Given the description of an element on the screen output the (x, y) to click on. 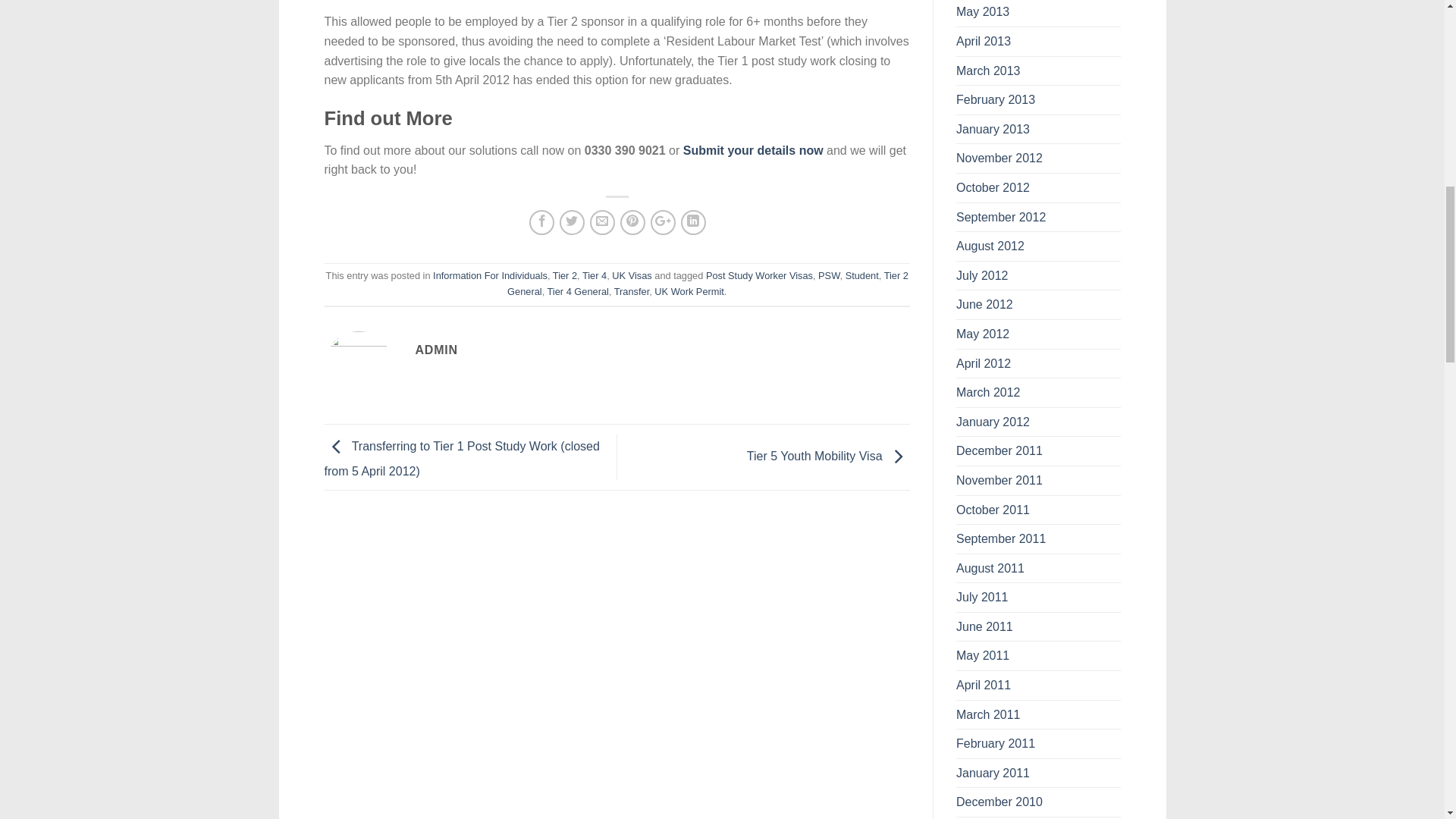
Contact Us (753, 150)
Submit your details now (753, 150)
